Given the description of an element on the screen output the (x, y) to click on. 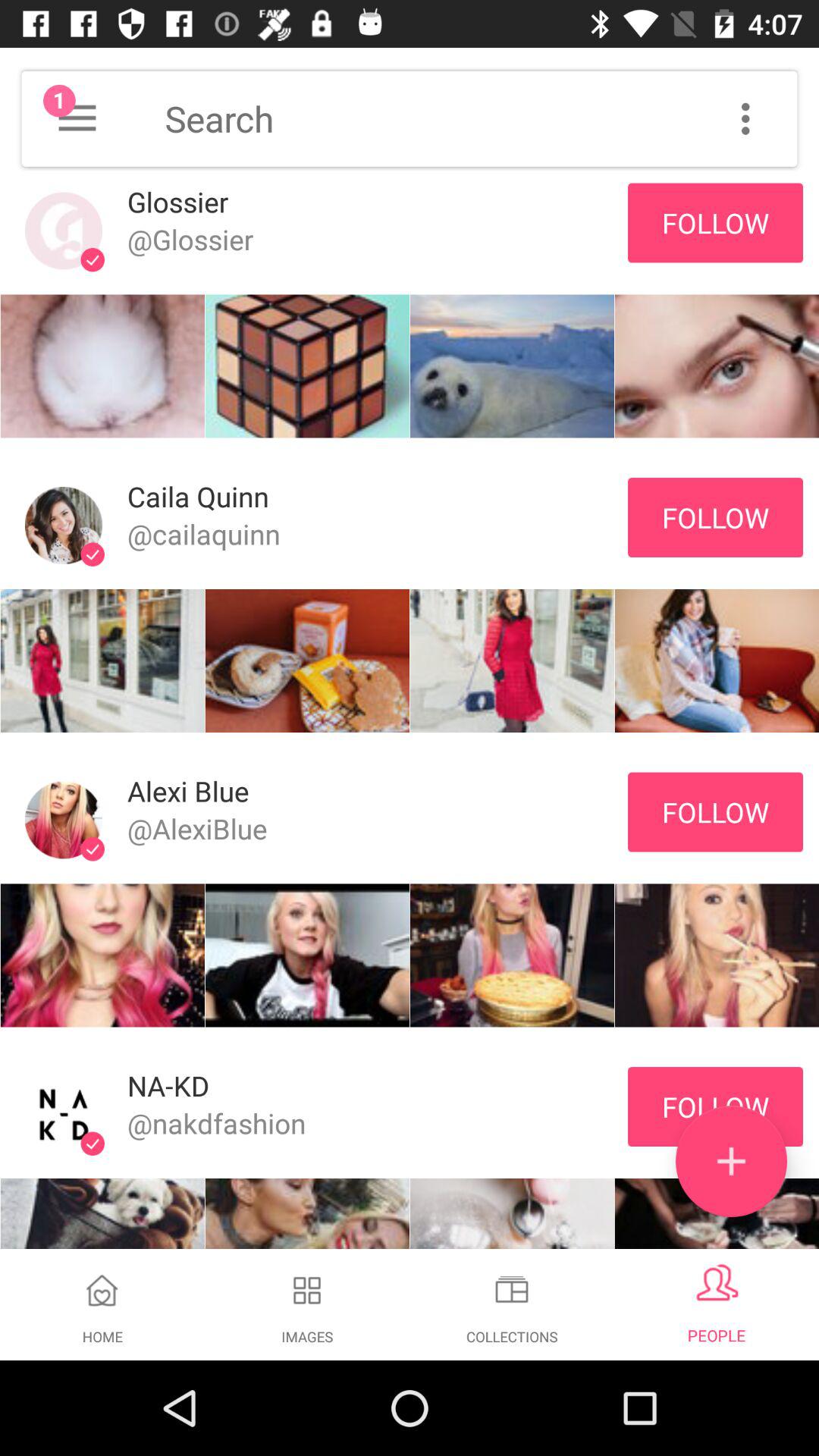
open menu (77, 118)
